Given the description of an element on the screen output the (x, y) to click on. 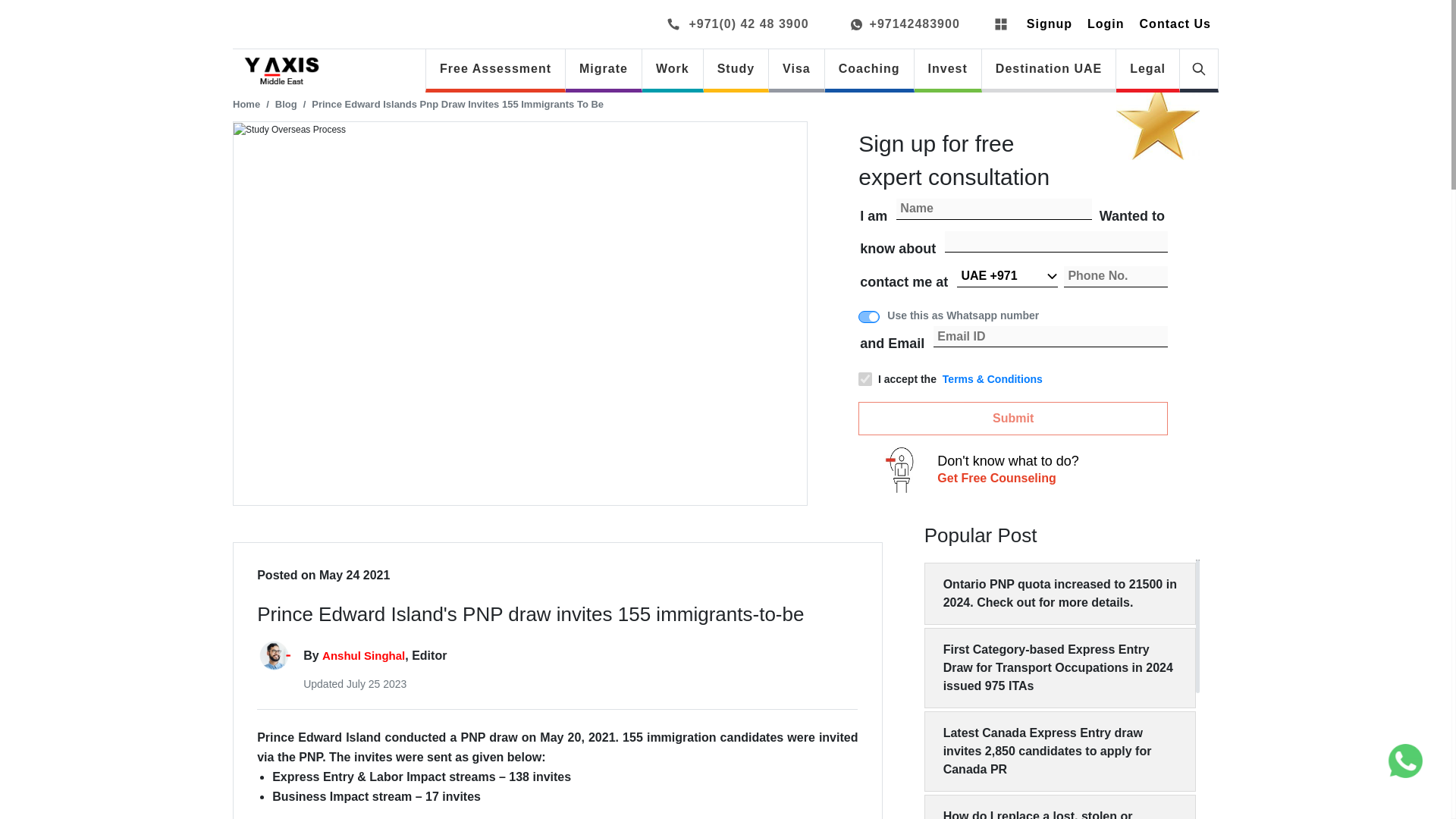
Anshul Singhal (362, 654)
Submit (1013, 418)
Migrate (604, 68)
Study (735, 68)
whatsappIcon (1405, 760)
Contact Us (1175, 24)
Invest (947, 68)
Blog (286, 103)
Home (246, 103)
Coaching (869, 68)
Y-axis Logo (281, 70)
Prince Edward Islands Pnp Draw Invites 155 Immigrants To Be (457, 103)
Visa (796, 68)
Personalized Services (898, 470)
Free Assessment (495, 68)
